Given the description of an element on the screen output the (x, y) to click on. 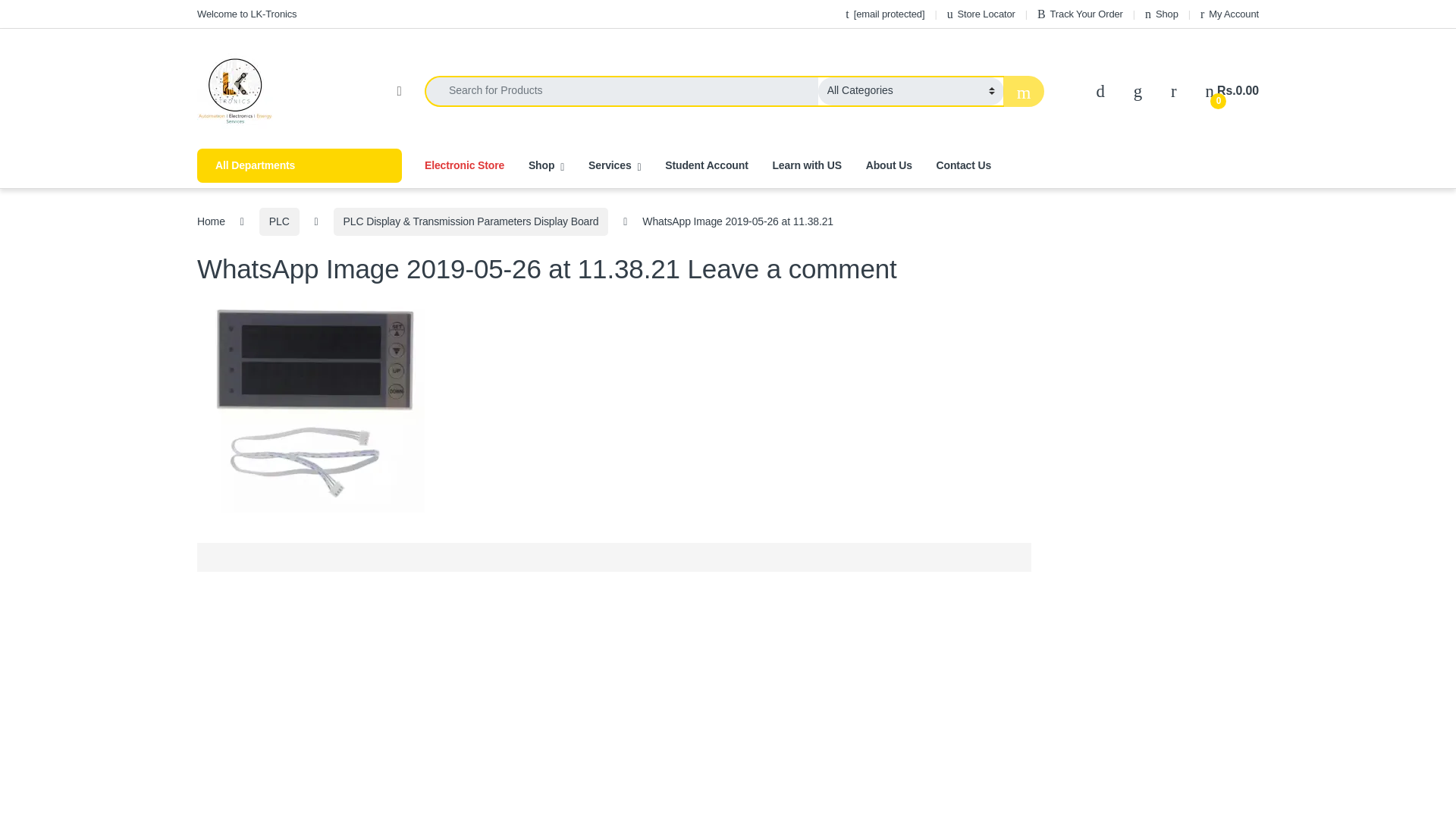
Shop (1160, 13)
Track Your Order (1079, 13)
Welcome to LK-Tronics (246, 13)
Welcome to LK-Tronics (246, 13)
Track Your Order (1079, 13)
Store Locator (980, 13)
Shop (1160, 13)
My Account (1229, 13)
My Account (1229, 13)
Store Locator (980, 13)
